Given the description of an element on the screen output the (x, y) to click on. 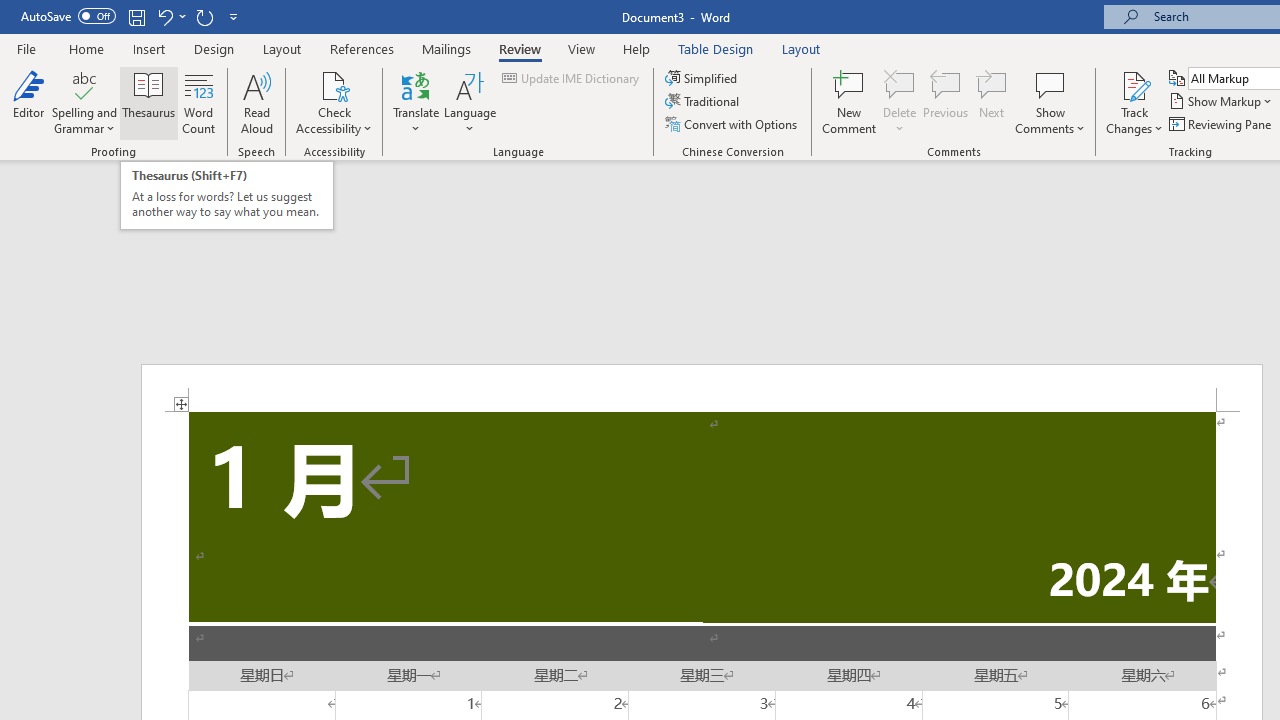
Undo Apply Quick Style (164, 15)
Delete (900, 84)
Spelling and Grammar (84, 102)
Reviewing Pane (1221, 124)
New Comment (849, 102)
Show Comments (1050, 102)
Update IME Dictionary... (572, 78)
Track Changes (1134, 102)
Thesaurus... (148, 102)
Repeat Doc Close (204, 15)
Convert with Options... (732, 124)
